Given the description of an element on the screen output the (x, y) to click on. 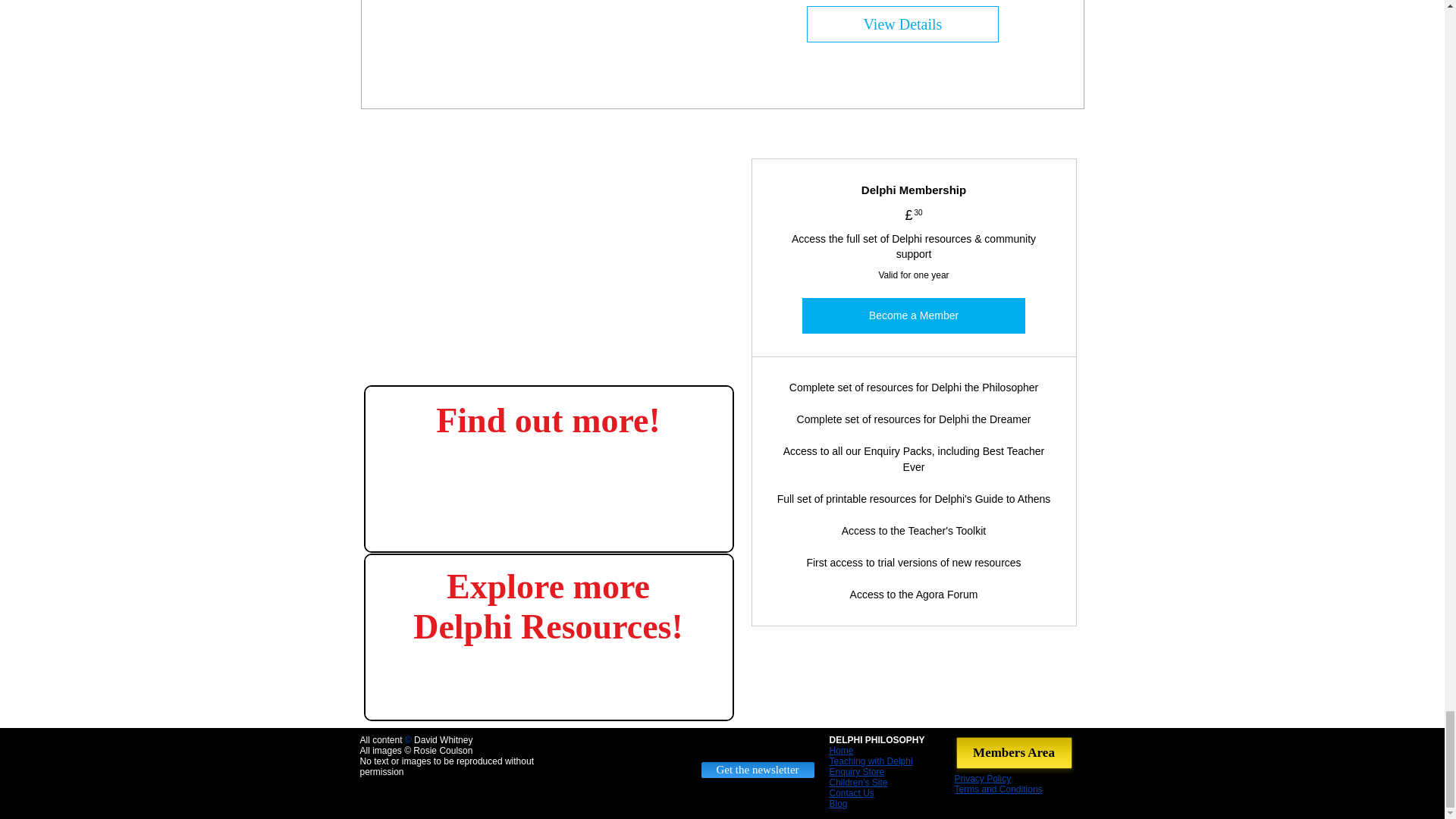
Twitter Follow (757, 745)
Enquiry Store (857, 771)
View Details (902, 23)
Teaching with Delphi (870, 760)
Contact Us (852, 792)
Home (841, 750)
Become a Member (913, 315)
Children's Site (858, 782)
Blog (838, 803)
